Given the description of an element on the screen output the (x, y) to click on. 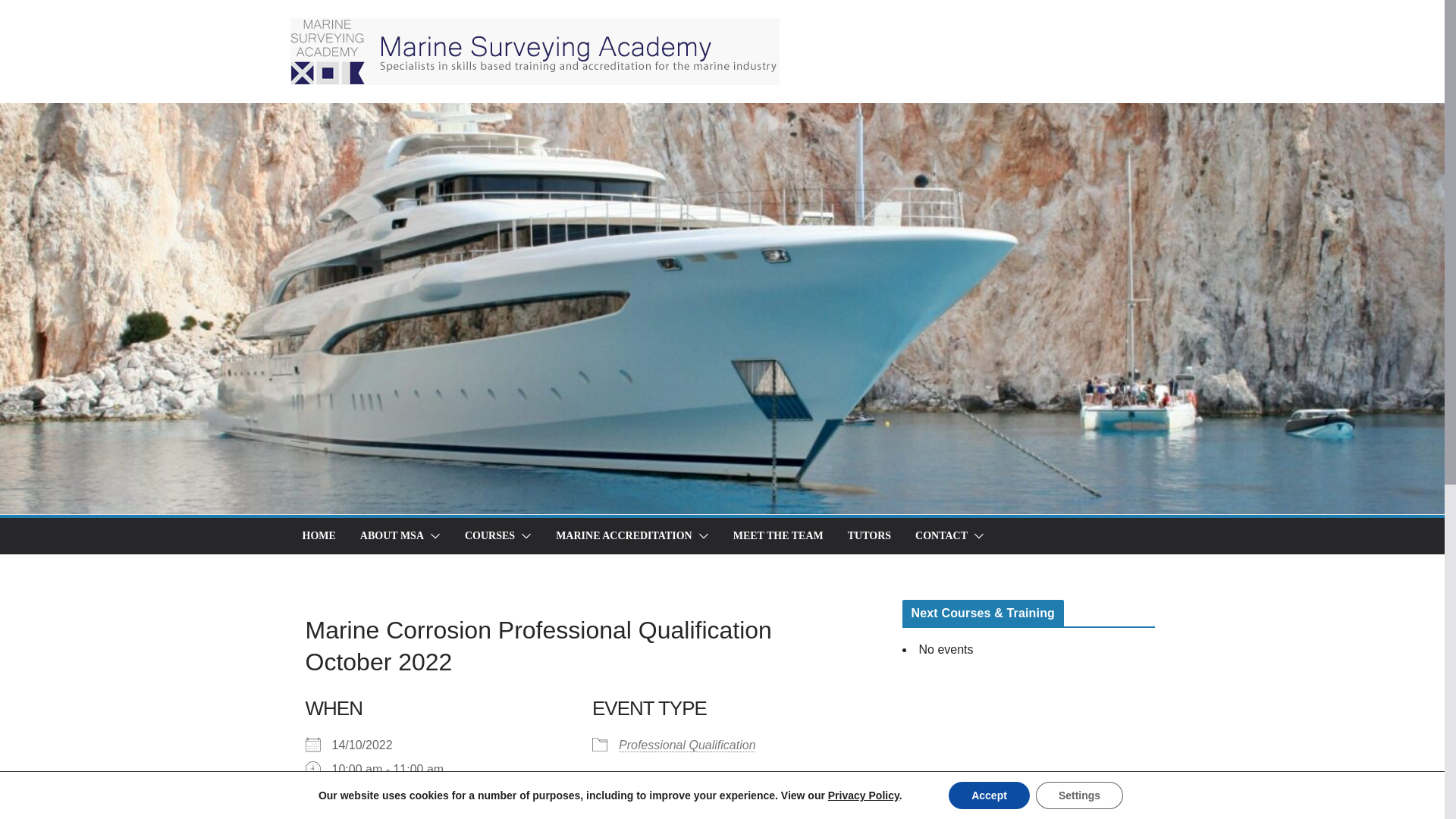
TUTORS (869, 536)
COURSES (489, 536)
ABOUT MSA (391, 536)
MARINE ACCREDITATION (624, 536)
MEET THE TEAM (778, 536)
Professional Qualification (686, 744)
Settings (1078, 795)
CONTACT (941, 536)
ADD TO CALENDAR (385, 807)
Privacy Policy (863, 795)
Accept (989, 795)
HOME (317, 536)
